Given the description of an element on the screen output the (x, y) to click on. 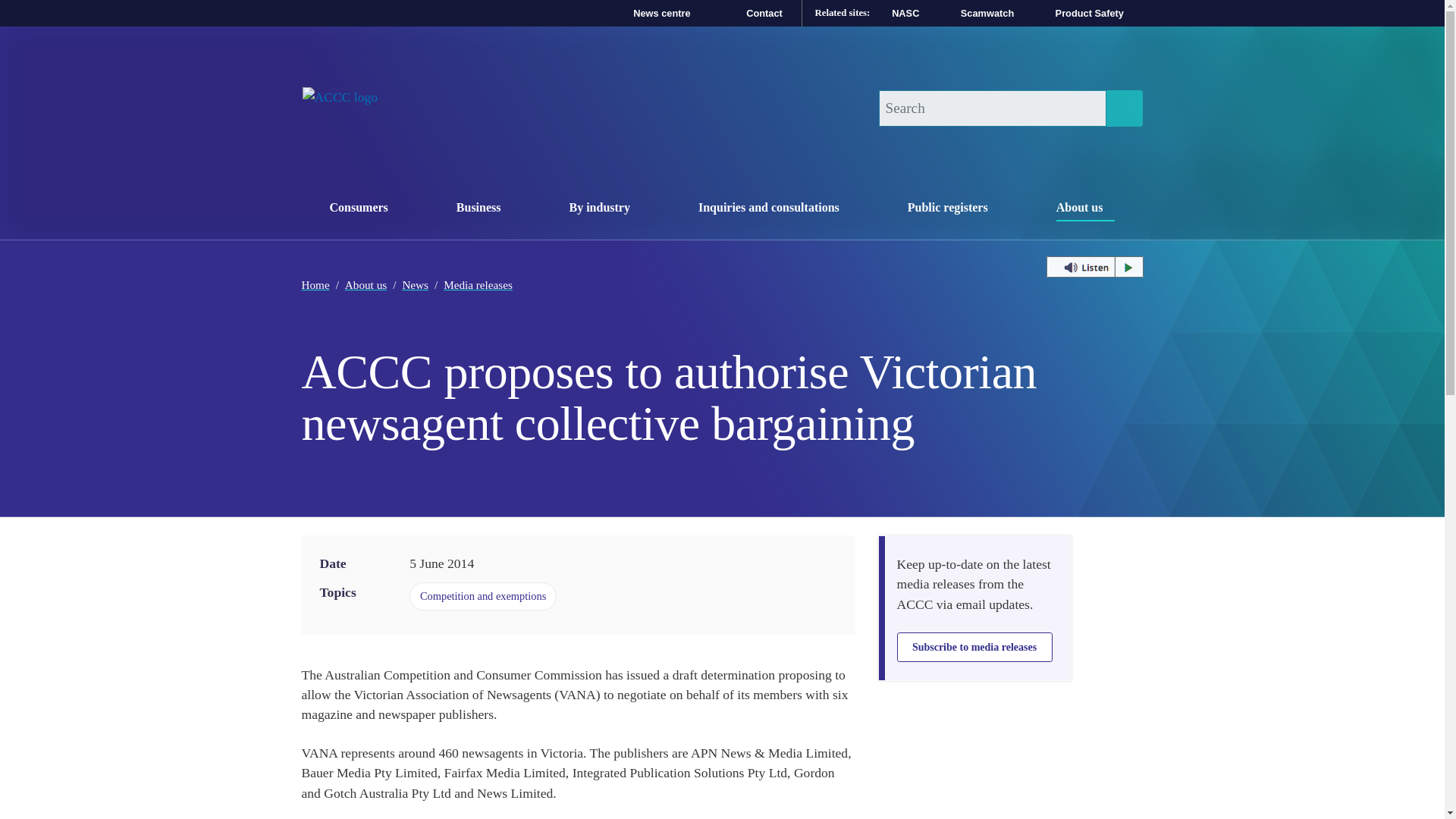
ACCC home (605, 205)
Contact (339, 107)
News centre (364, 205)
Scamwatch (749, 12)
Search (646, 12)
NASC (978, 12)
Product Safety (1123, 108)
Listen to this page using ReadSpeaker (897, 12)
